Given the description of an element on the screen output the (x, y) to click on. 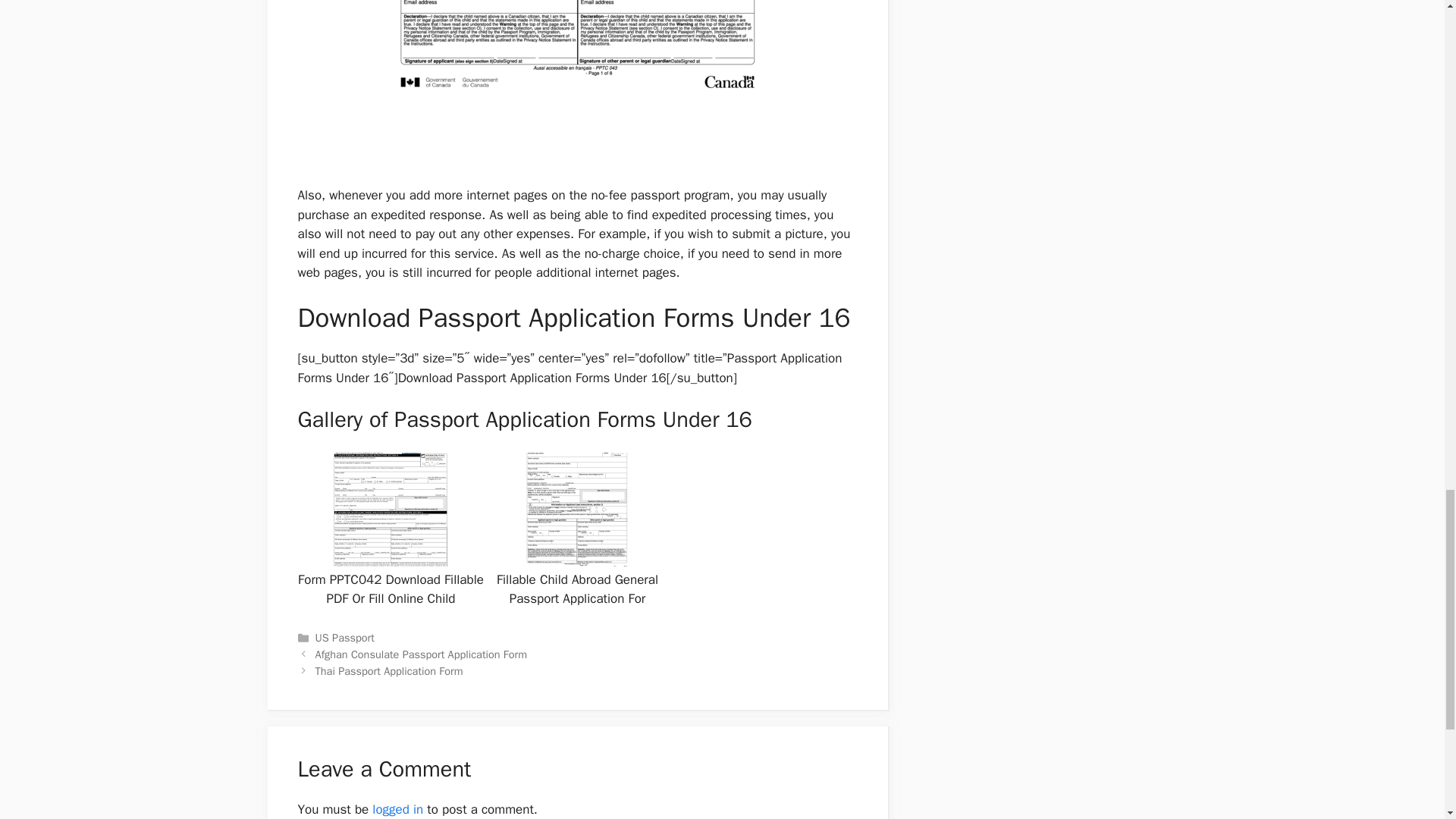
Next (389, 671)
US Passport (344, 637)
Afghan Consulate Passport Application Form (421, 653)
logged in (397, 809)
Thai Passport Application Form (389, 671)
Previous (421, 653)
